Given the description of an element on the screen output the (x, y) to click on. 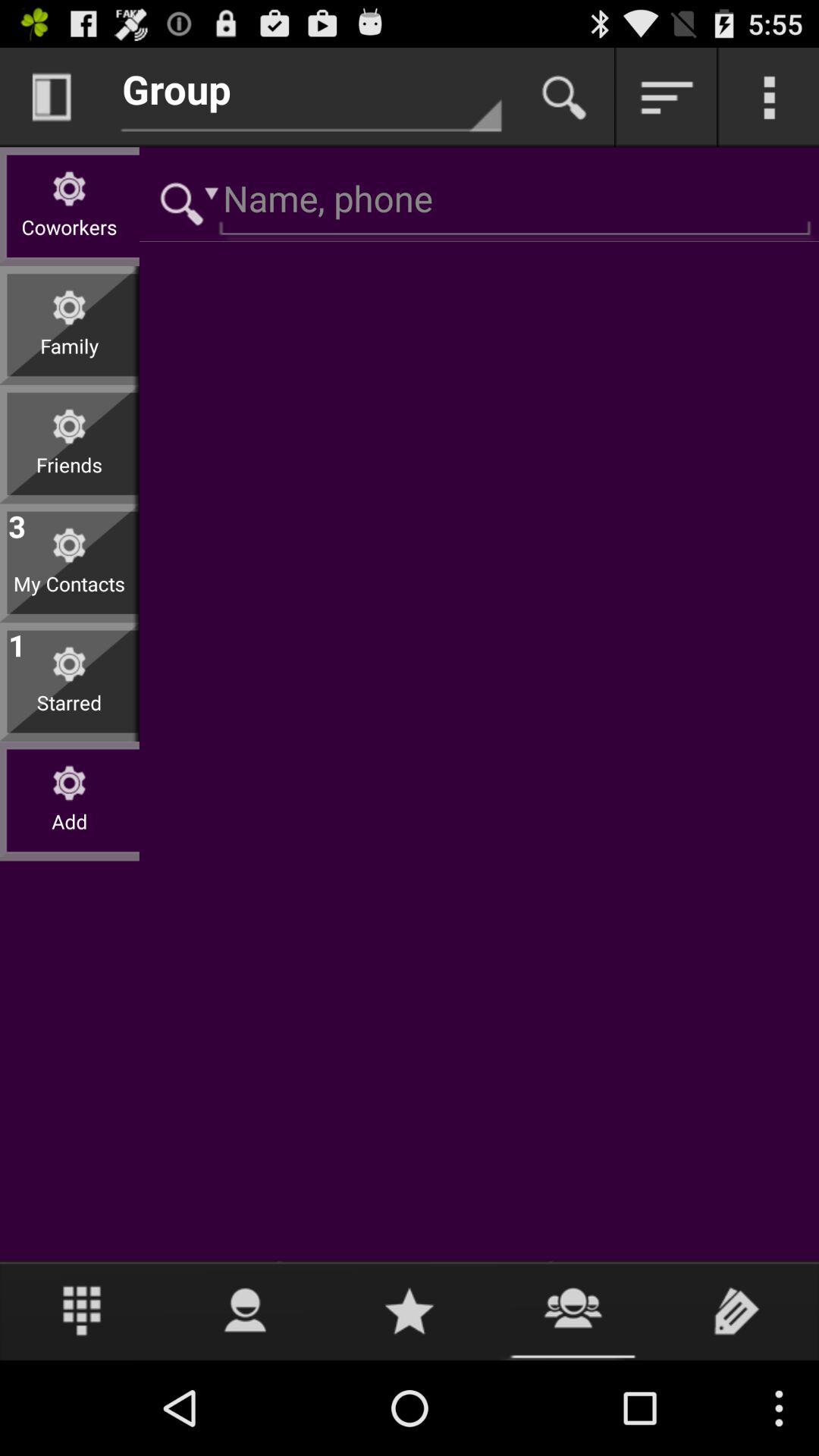
main menu (769, 97)
